Given the description of an element on the screen output the (x, y) to click on. 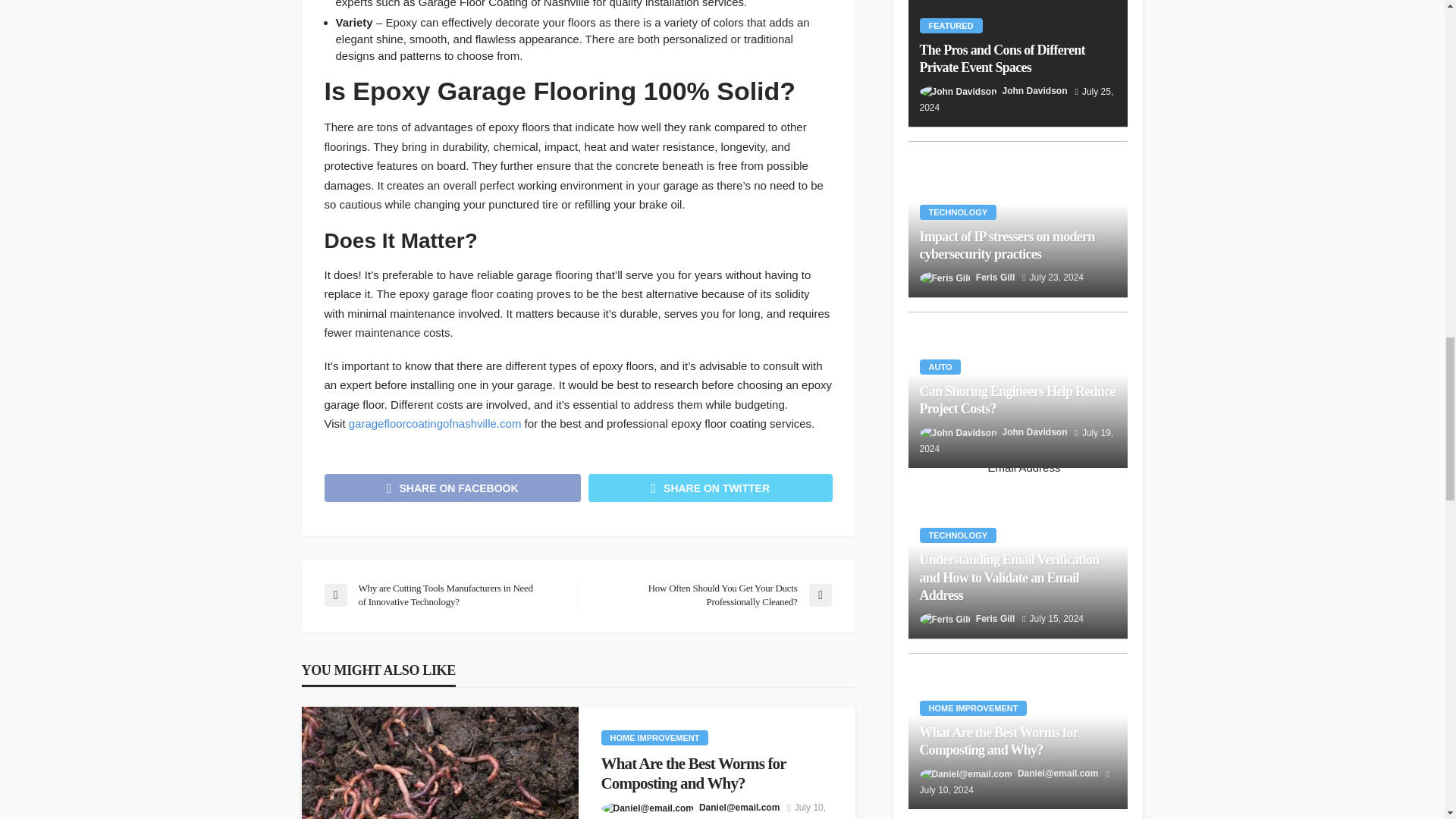
How Often Should You Get Your Ducts Professionally Cleaned? (711, 595)
What Are the Best Worms for Composting and Why? (439, 762)
What Are the Best Worms for Composting and Why? (715, 773)
Home Improvement (653, 737)
